Given the description of an element on the screen output the (x, y) to click on. 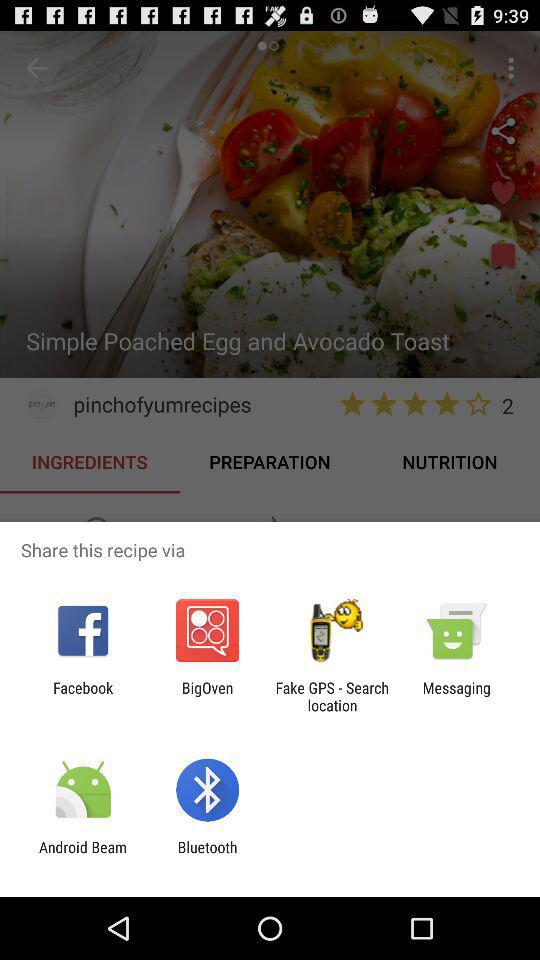
click item to the left of the fake gps search icon (207, 696)
